Given the description of an element on the screen output the (x, y) to click on. 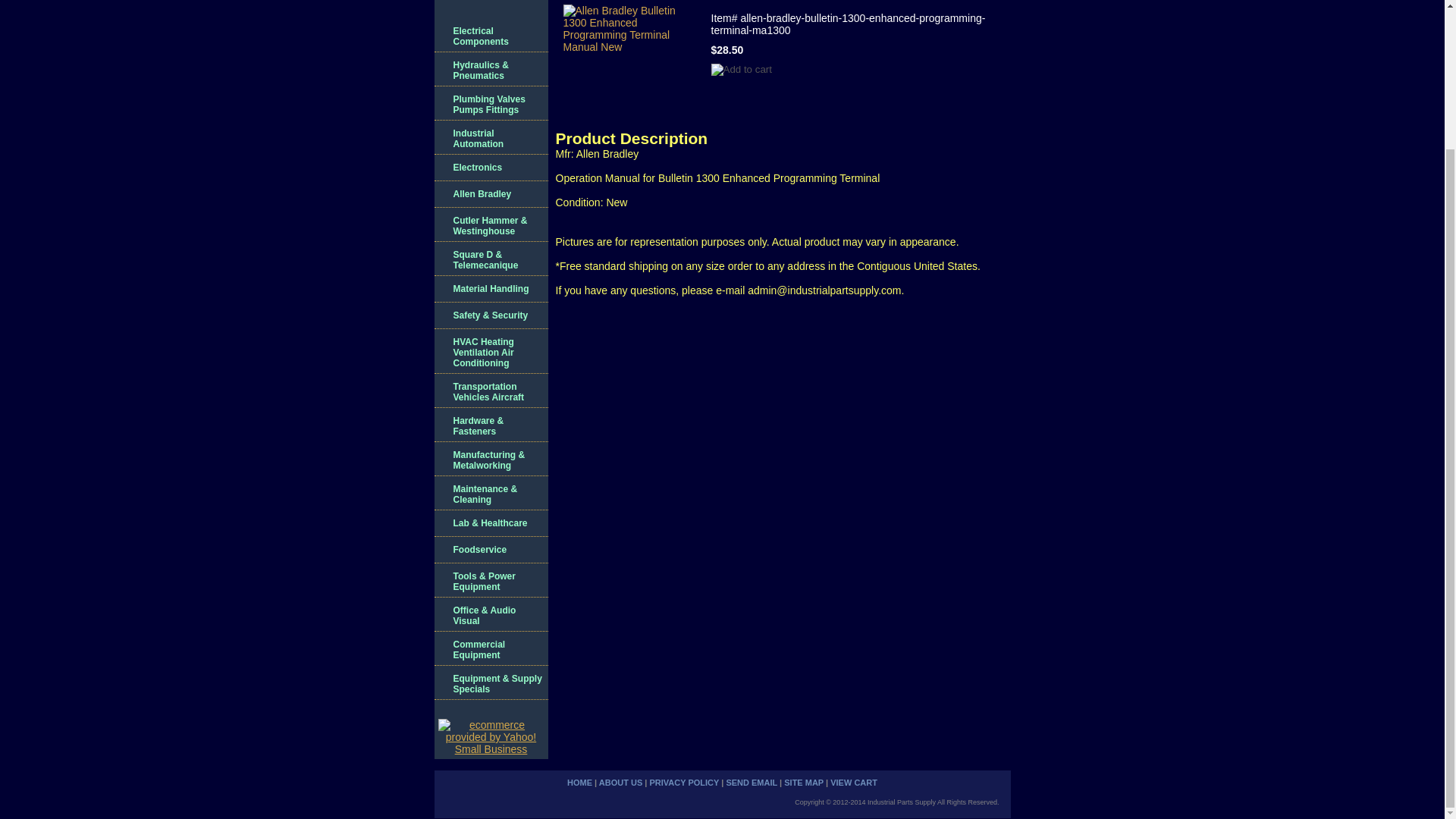
Plumbing Valves Pumps Fittings (490, 103)
Electrical Components (490, 35)
Transportation Vehicles Aircraft (490, 390)
Foodservice (490, 550)
Commercial Equipment (490, 648)
Plumbing Valves Pumps Fittings (490, 103)
VIEW CART (853, 782)
SITE MAP (804, 782)
Electrical Components (490, 35)
Add to cart (741, 69)
Material Handling (490, 289)
Material Handling (490, 289)
ABOUT US (620, 782)
Electronics (490, 167)
Industrial Automation (490, 137)
